Given the description of an element on the screen output the (x, y) to click on. 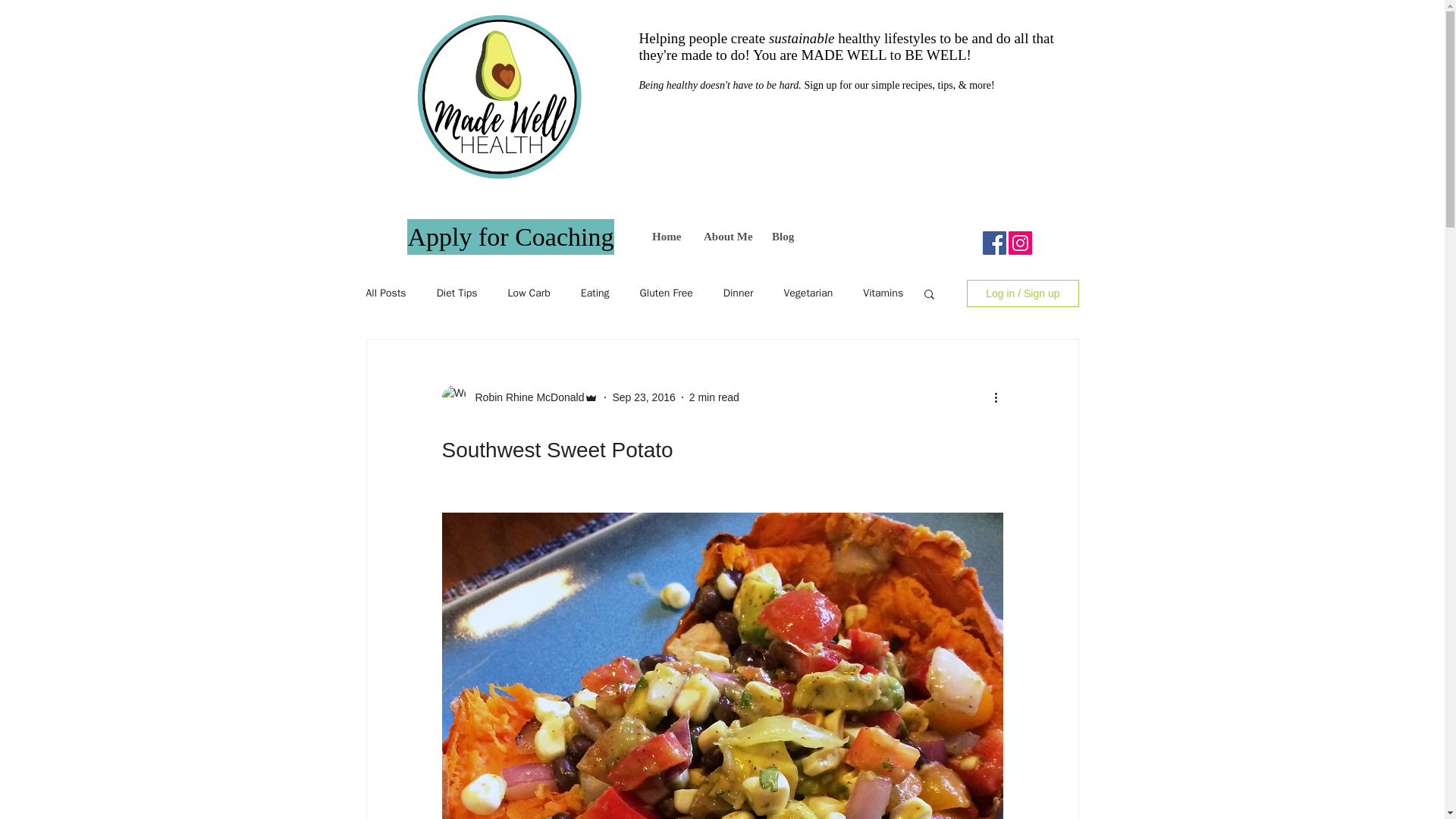
Robin Rhine McDonald (524, 397)
Diet Tips (456, 293)
Gluten Free (666, 293)
Home (666, 236)
Apply for Coaching (510, 236)
2 min read (713, 397)
Vegetarian (807, 293)
Dinner (738, 293)
Low Carb (529, 293)
All Posts (385, 293)
